Given the description of an element on the screen output the (x, y) to click on. 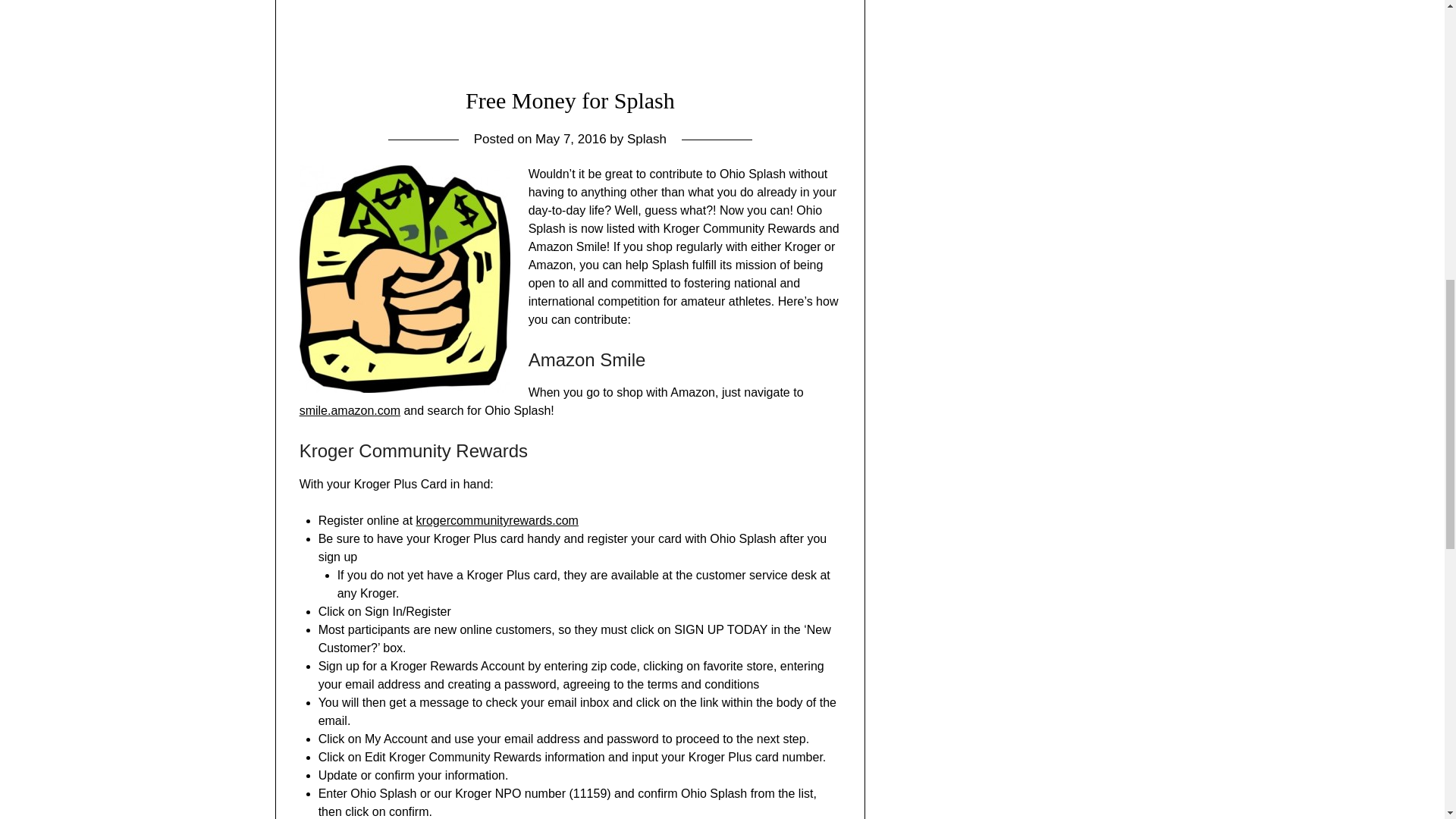
May 7, 2016 (571, 138)
smile.amazon.com (349, 410)
krogercommunityrewards.com (497, 520)
Splash (646, 138)
